Given the description of an element on the screen output the (x, y) to click on. 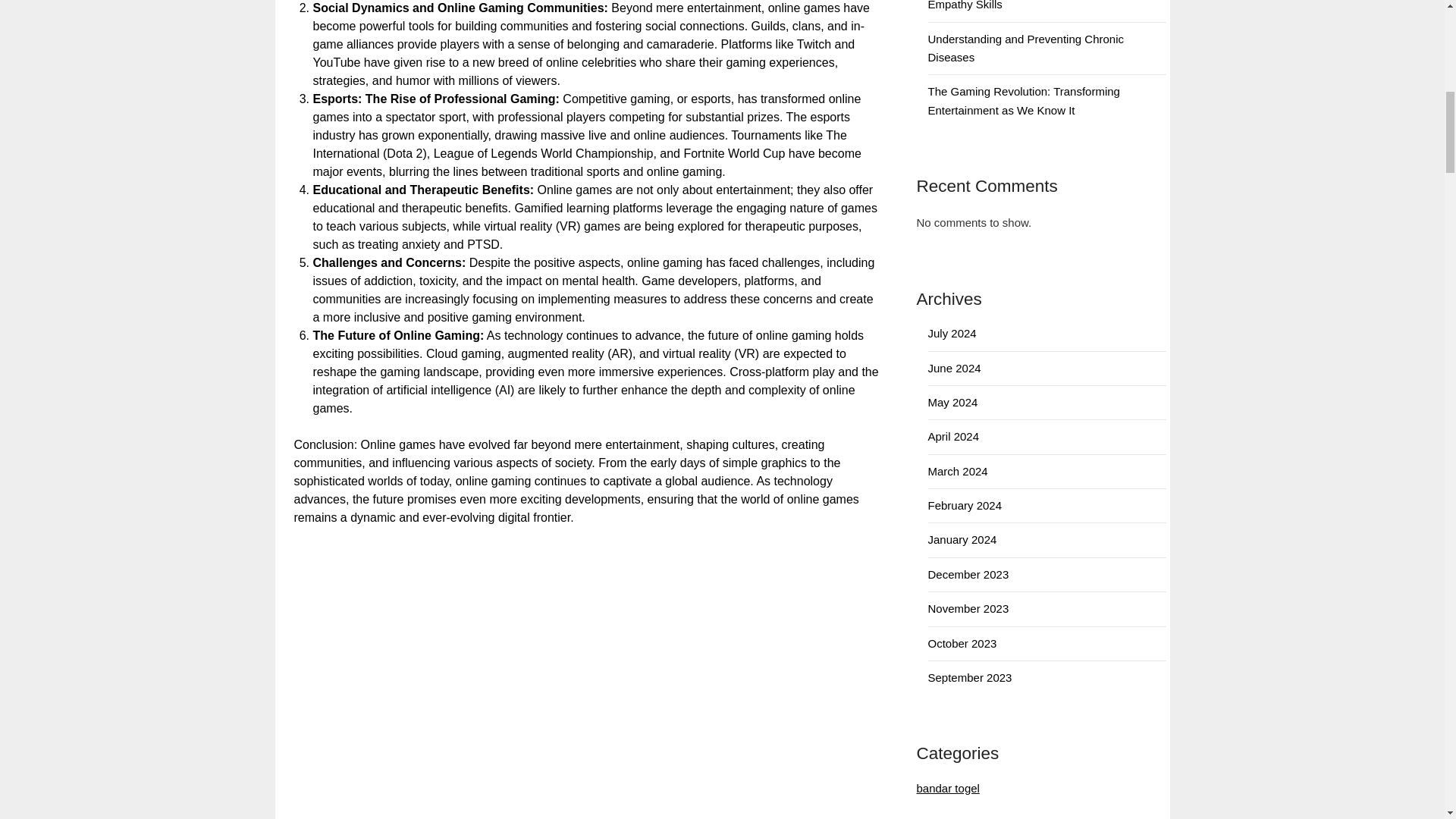
October 2023 (962, 643)
February 2024 (965, 504)
September 2023 (969, 676)
Understanding and Preventing Chronic Diseases (1026, 47)
bandar togel (946, 788)
November 2023 (968, 608)
January 2024 (962, 539)
May 2024 (953, 401)
slot spaceman (952, 818)
December 2023 (968, 574)
June 2024 (954, 367)
The Role of Online Gaming in Promoting Empathy Skills (1030, 5)
July 2024 (952, 332)
March 2024 (958, 471)
